Given the description of an element on the screen output the (x, y) to click on. 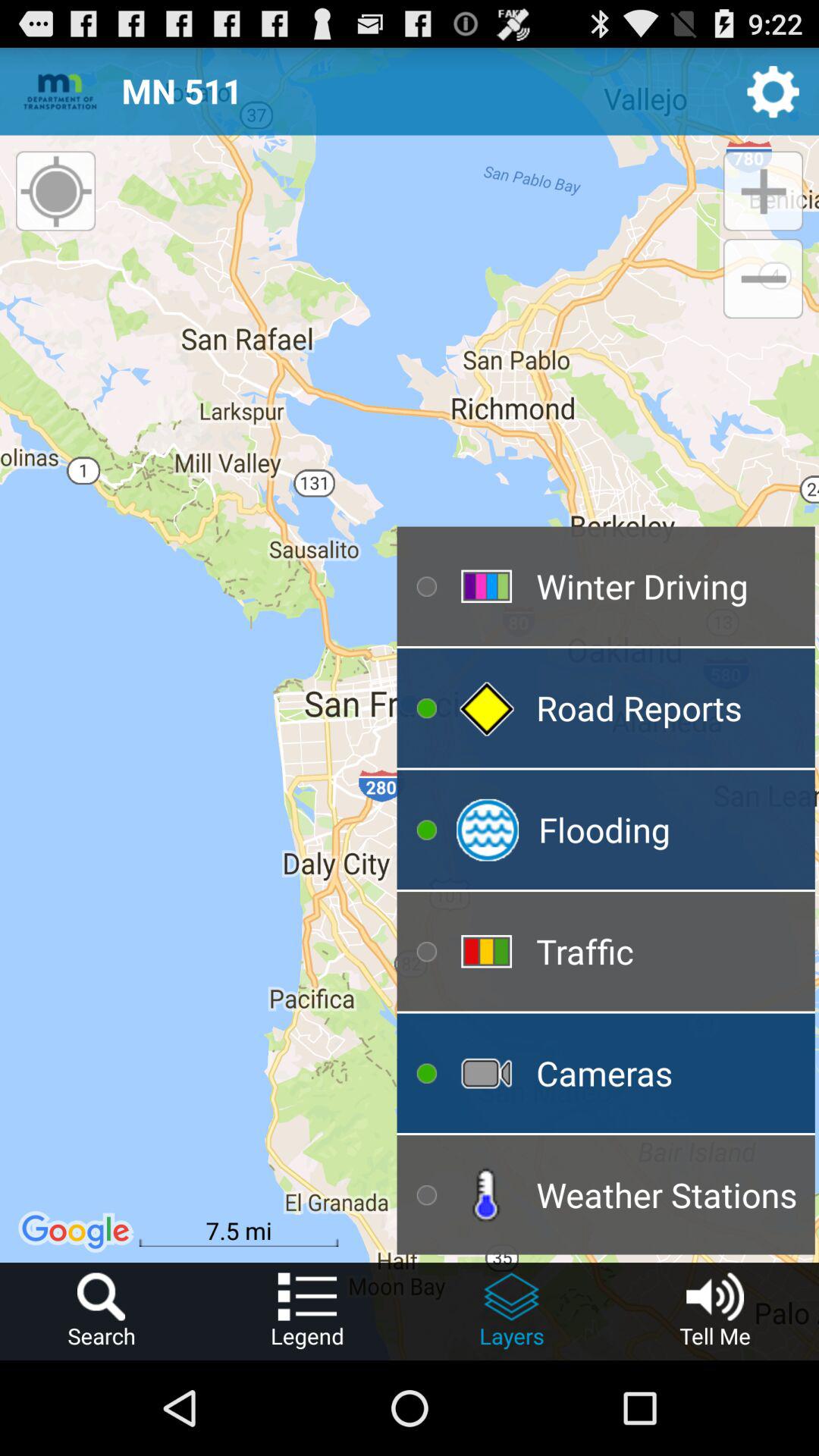
select icon to the right of the mn 511 icon (773, 91)
